Given the description of an element on the screen output the (x, y) to click on. 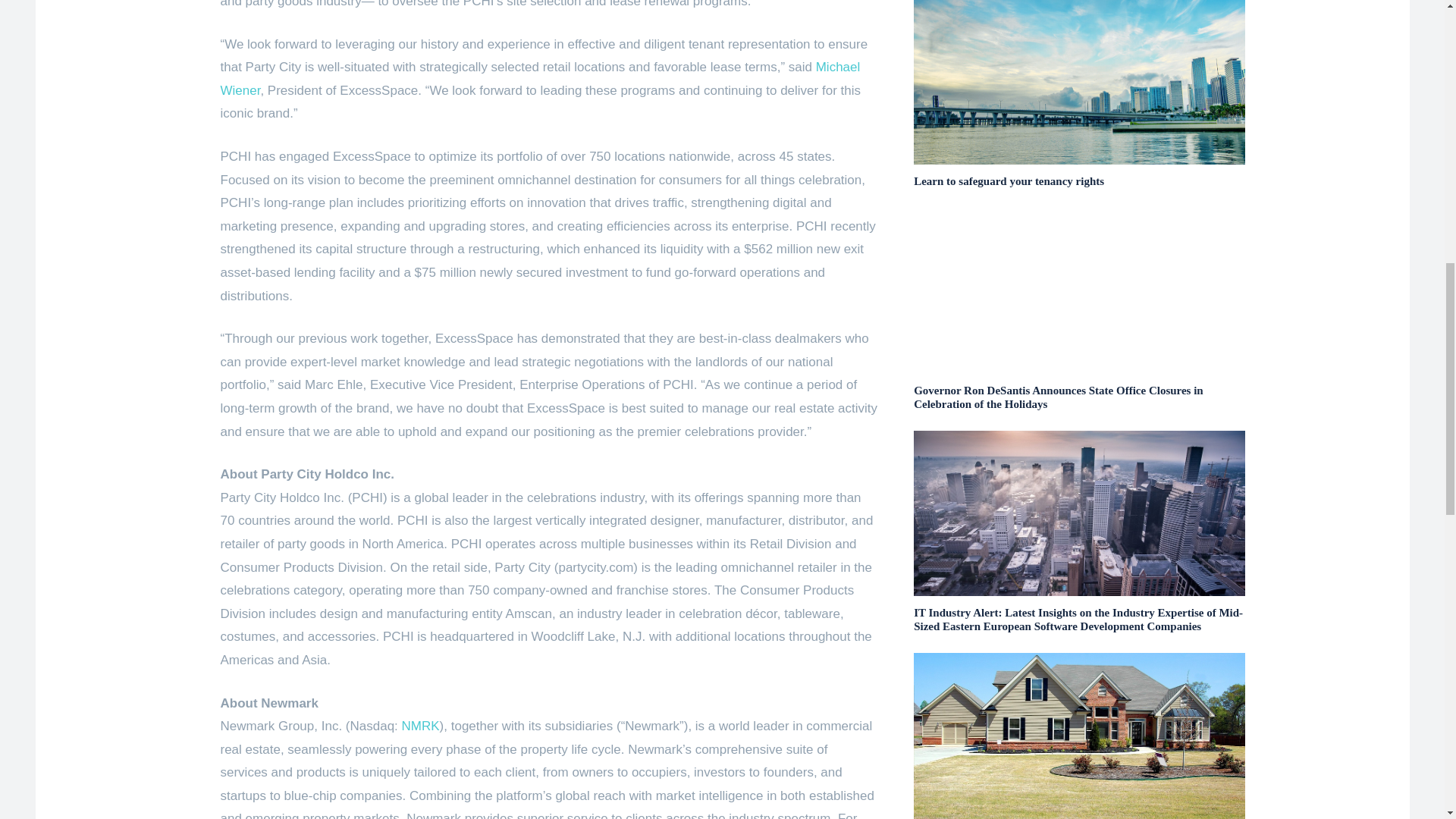
NMRK (420, 726)
Learn to safeguard your tenancy rights (1008, 181)
Michael Wiener (539, 78)
Learn to safeguard your tenancy rights (1008, 181)
Learn to safeguard your tenancy rights (1079, 82)
